Given the description of an element on the screen output the (x, y) to click on. 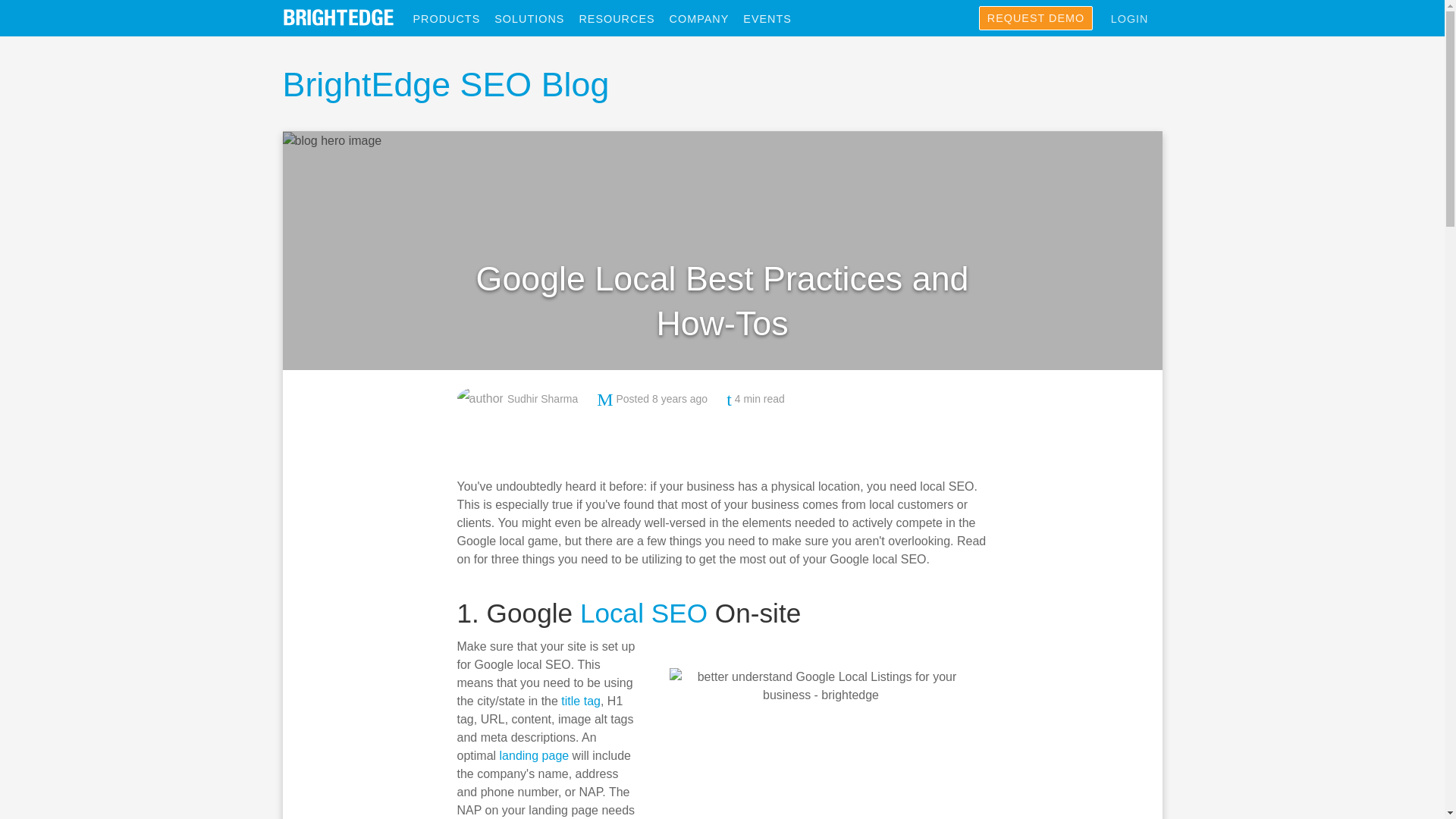
SOLUTIONS (535, 19)
Products (453, 19)
PRODUCTS (453, 19)
Resources (623, 19)
RESOURCES (623, 19)
BrightEdge (337, 17)
